Given the description of an element on the screen output the (x, y) to click on. 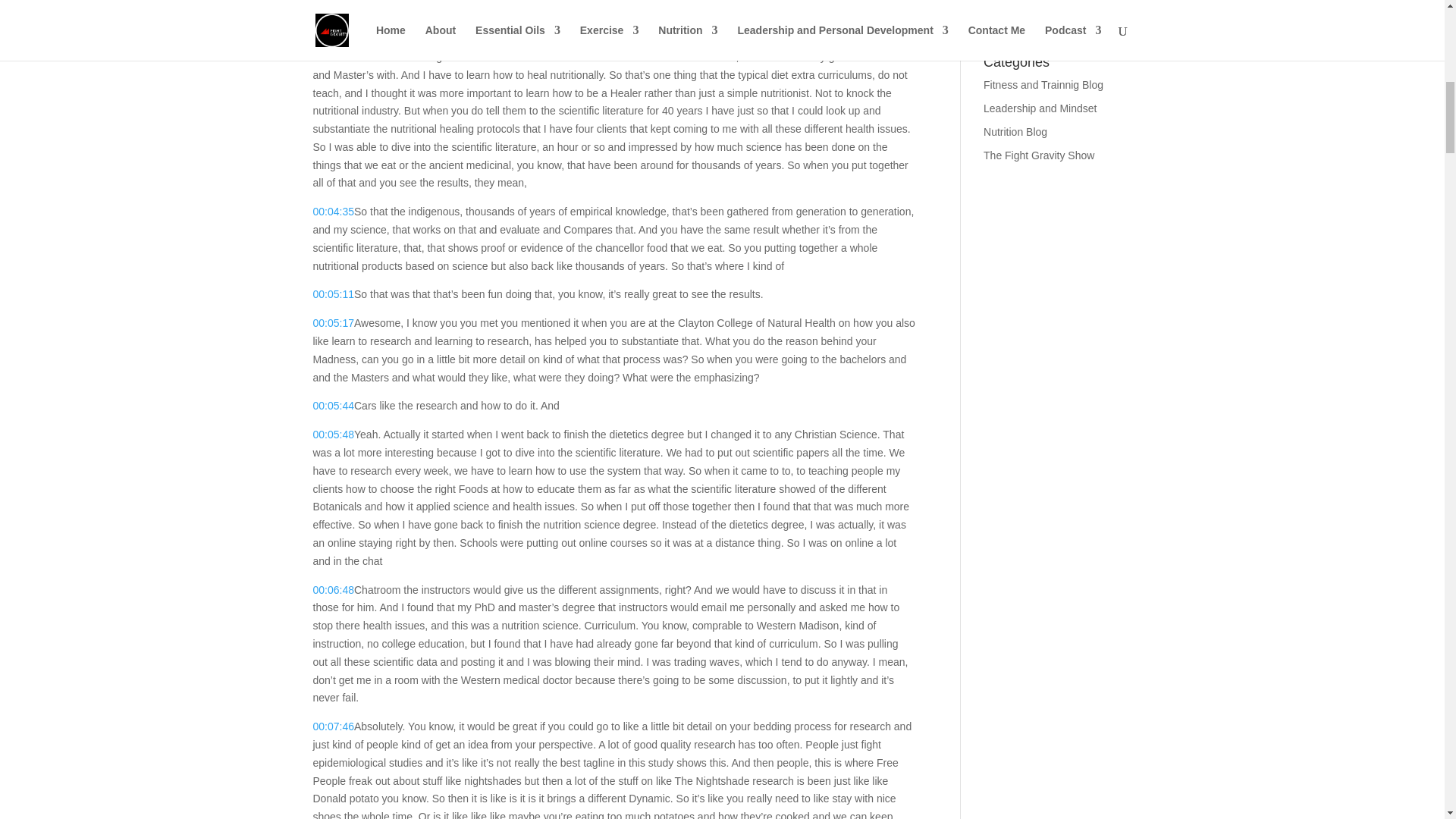
00:07:46 (333, 726)
00:03:35 (333, 56)
00:04:35 (333, 211)
00:05:11 (333, 294)
00:05:44 (333, 405)
00:05:17 (333, 322)
00:05:48 (333, 434)
00:06:48 (333, 589)
